Given the description of an element on the screen output the (x, y) to click on. 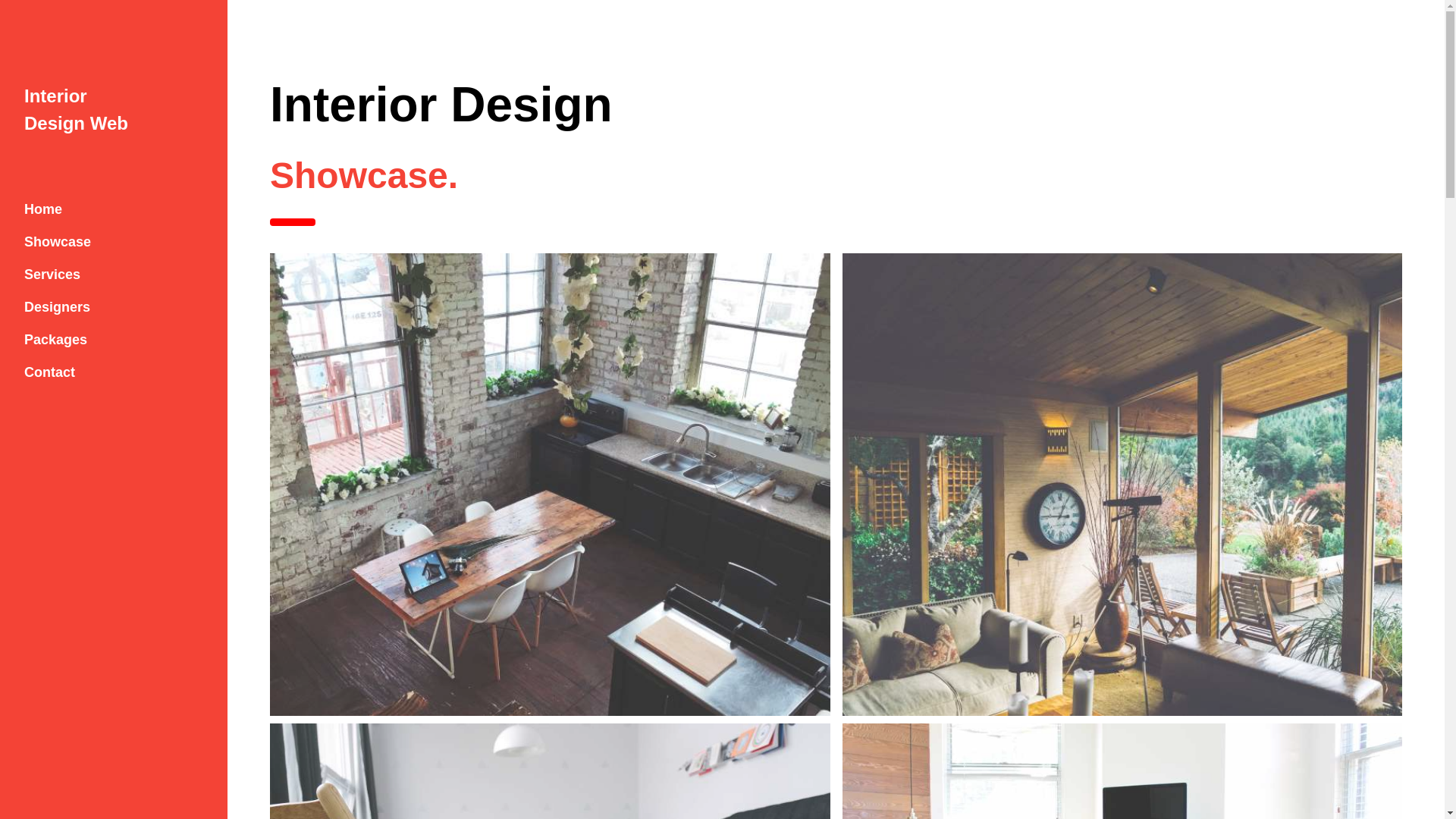
Designers (113, 307)
Services (113, 274)
Home (113, 209)
Contact (113, 372)
Showcase (113, 242)
Packages (113, 339)
